Given the description of an element on the screen output the (x, y) to click on. 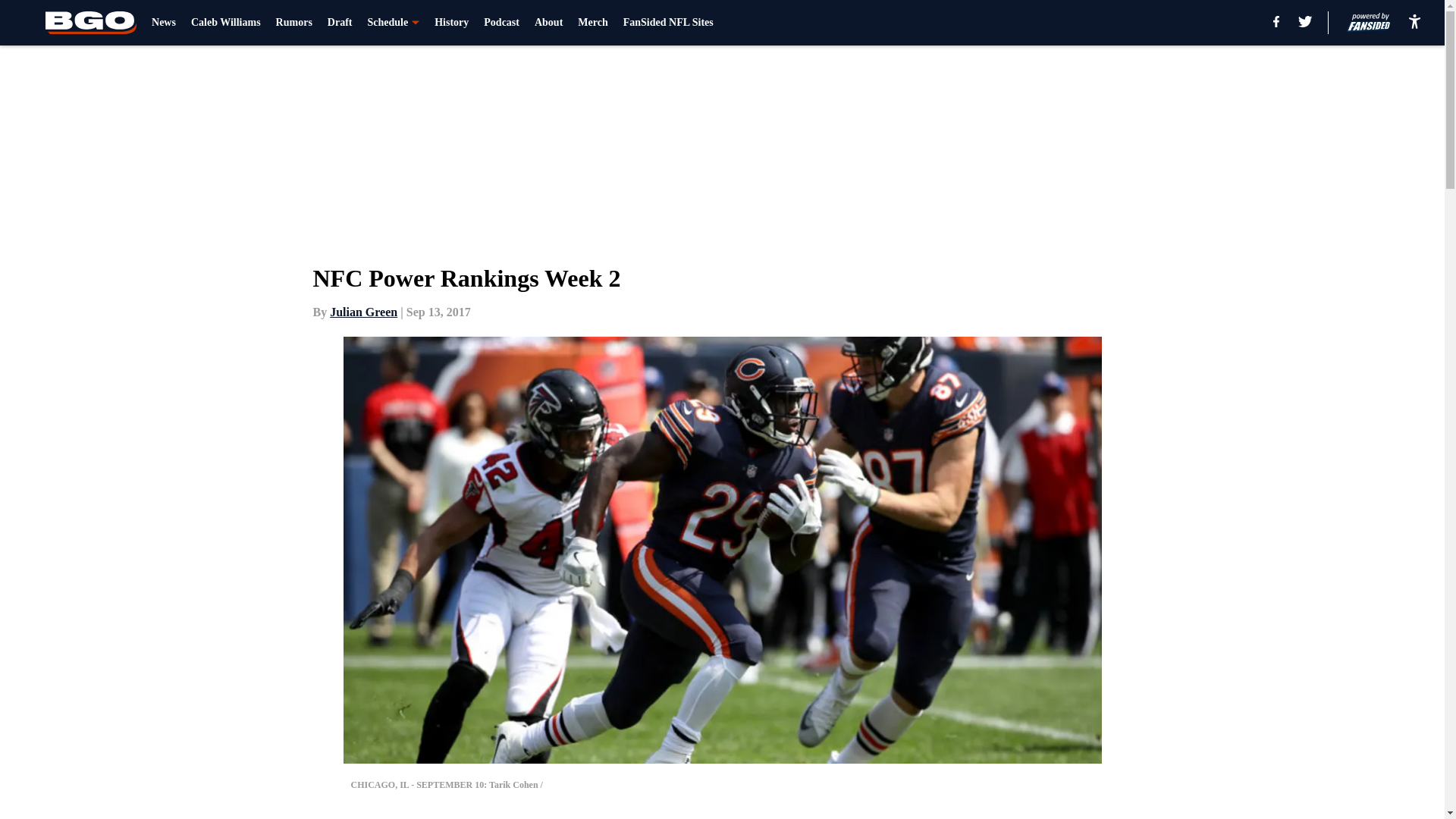
History (450, 22)
Merch (592, 22)
News (163, 22)
Podcast (501, 22)
FanSided NFL Sites (668, 22)
Caleb Williams (225, 22)
Draft (339, 22)
About (548, 22)
Julian Green (363, 311)
